Given the description of an element on the screen output the (x, y) to click on. 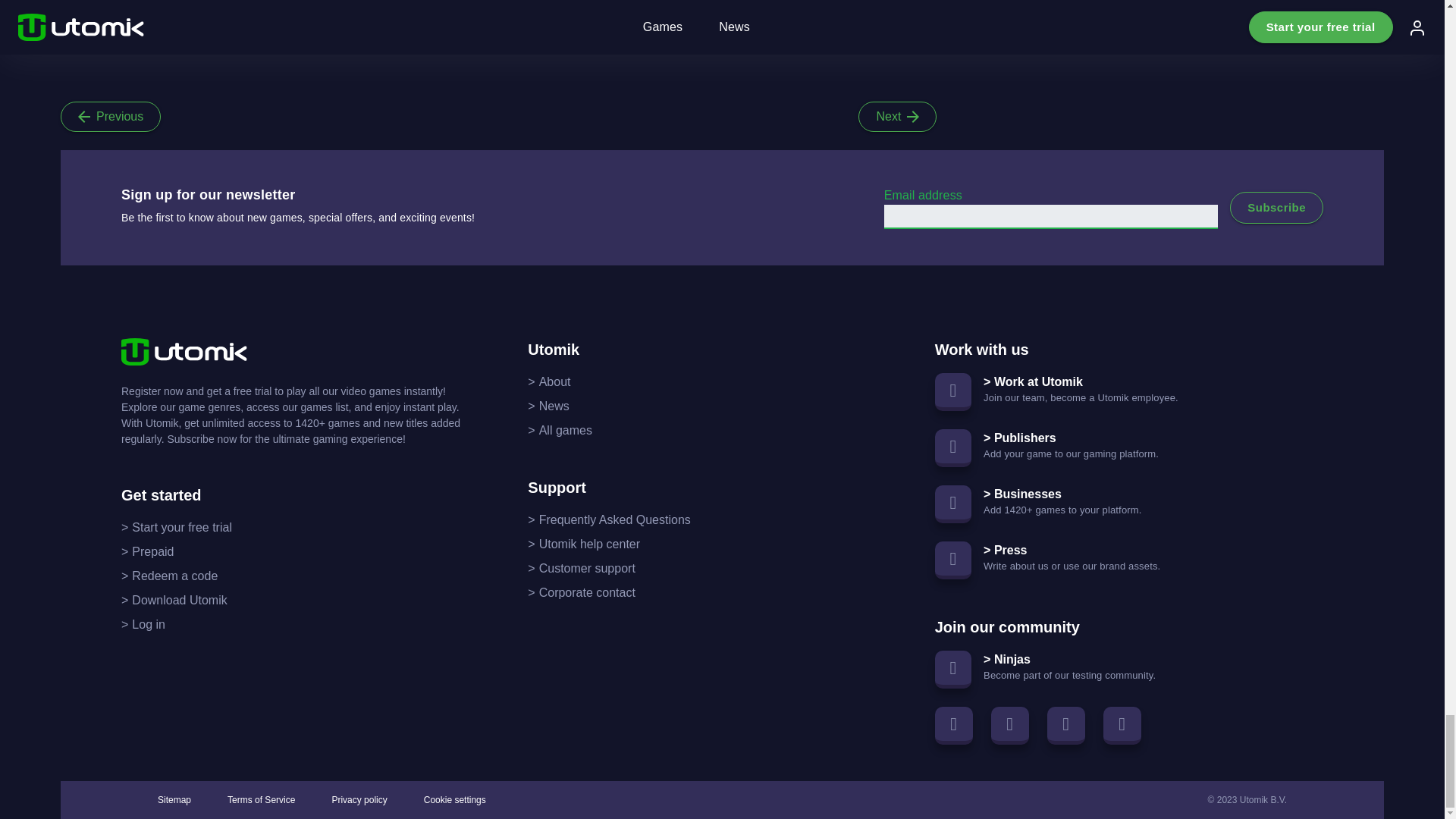
Previous (110, 116)
Check out Utomik on Discord (1122, 725)
Next (897, 116)
Check out Utomik on Facebook (953, 725)
Check out Utomik on Twitter (1010, 725)
Check out Utomik on YouTube (1065, 725)
